Given the description of an element on the screen output the (x, y) to click on. 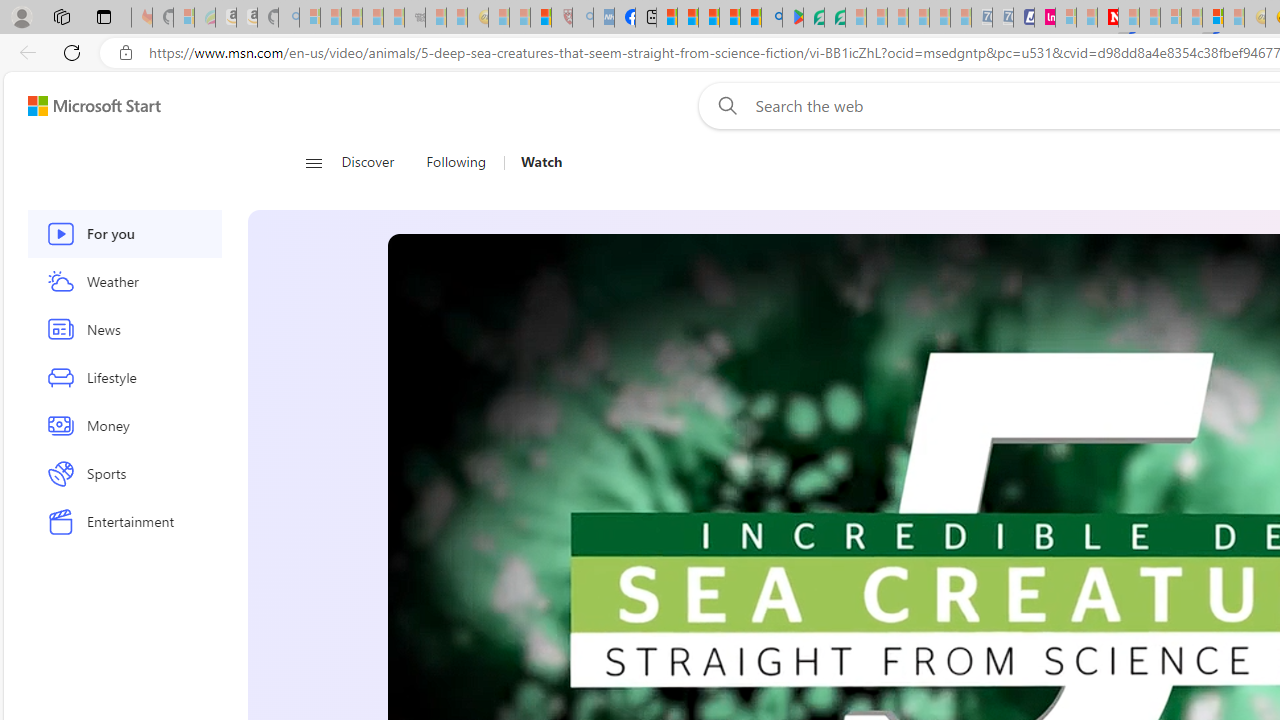
Cheap Hotels - Save70.com - Sleeping (1002, 17)
Latest Politics News & Archive | Newsweek.com (1107, 17)
Combat Siege (414, 17)
Watch (541, 162)
Microsoft Word - consumer-privacy address update 2.2021 (834, 17)
Open navigation menu (313, 162)
